Given the description of an element on the screen output the (x, y) to click on. 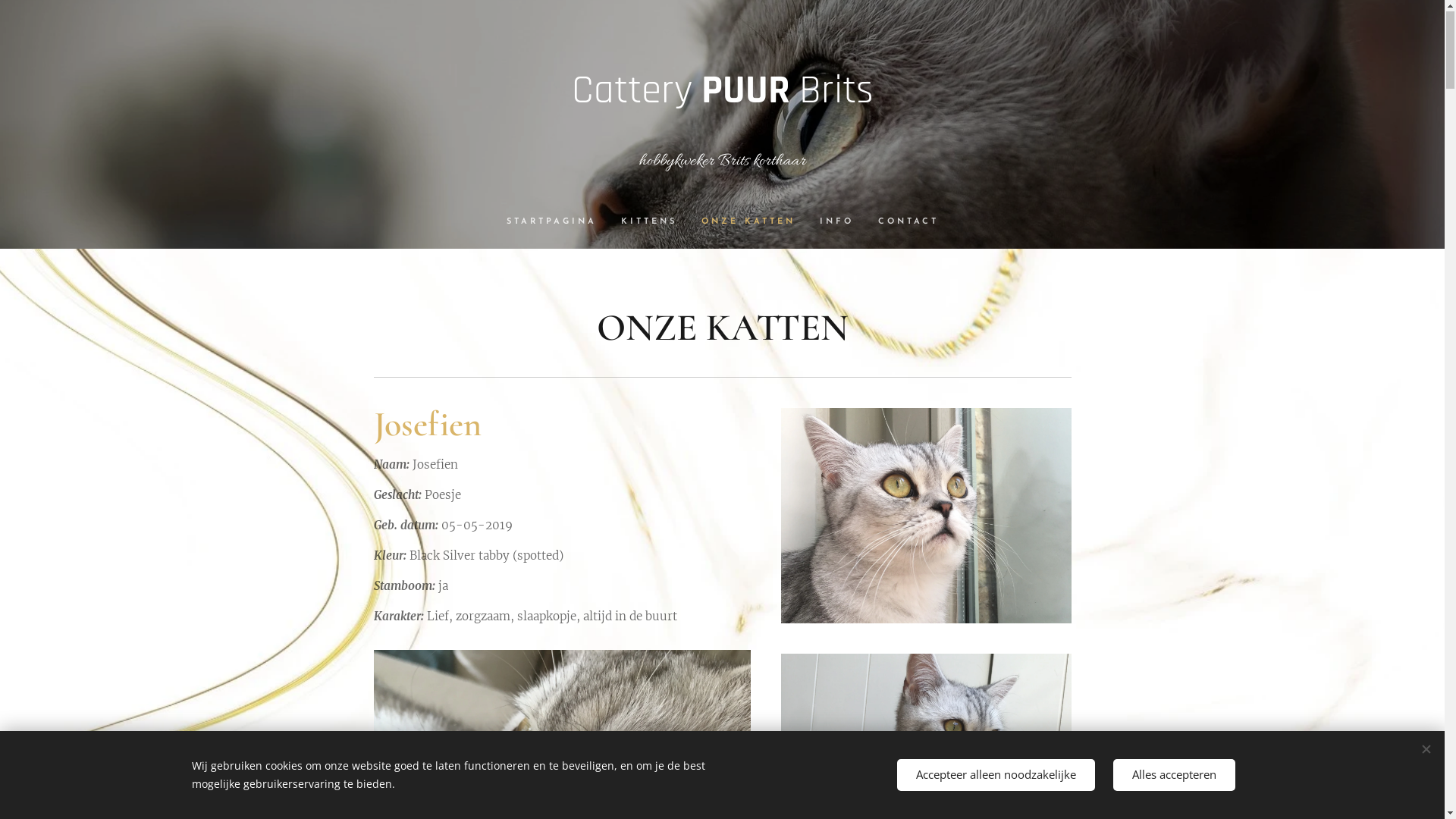
Accepteer alleen noodzakelijke Element type: text (995, 774)
CONTACT Element type: text (902, 222)
ONZE KATTEN Element type: text (747, 222)
KITTENS Element type: text (648, 222)
Alles accepteren Element type: text (1174, 774)
INFO Element type: text (835, 222)
Cattery PUUR Brits Element type: text (722, 86)
STARTPAGINA Element type: text (557, 222)
